Given the description of an element on the screen output the (x, y) to click on. 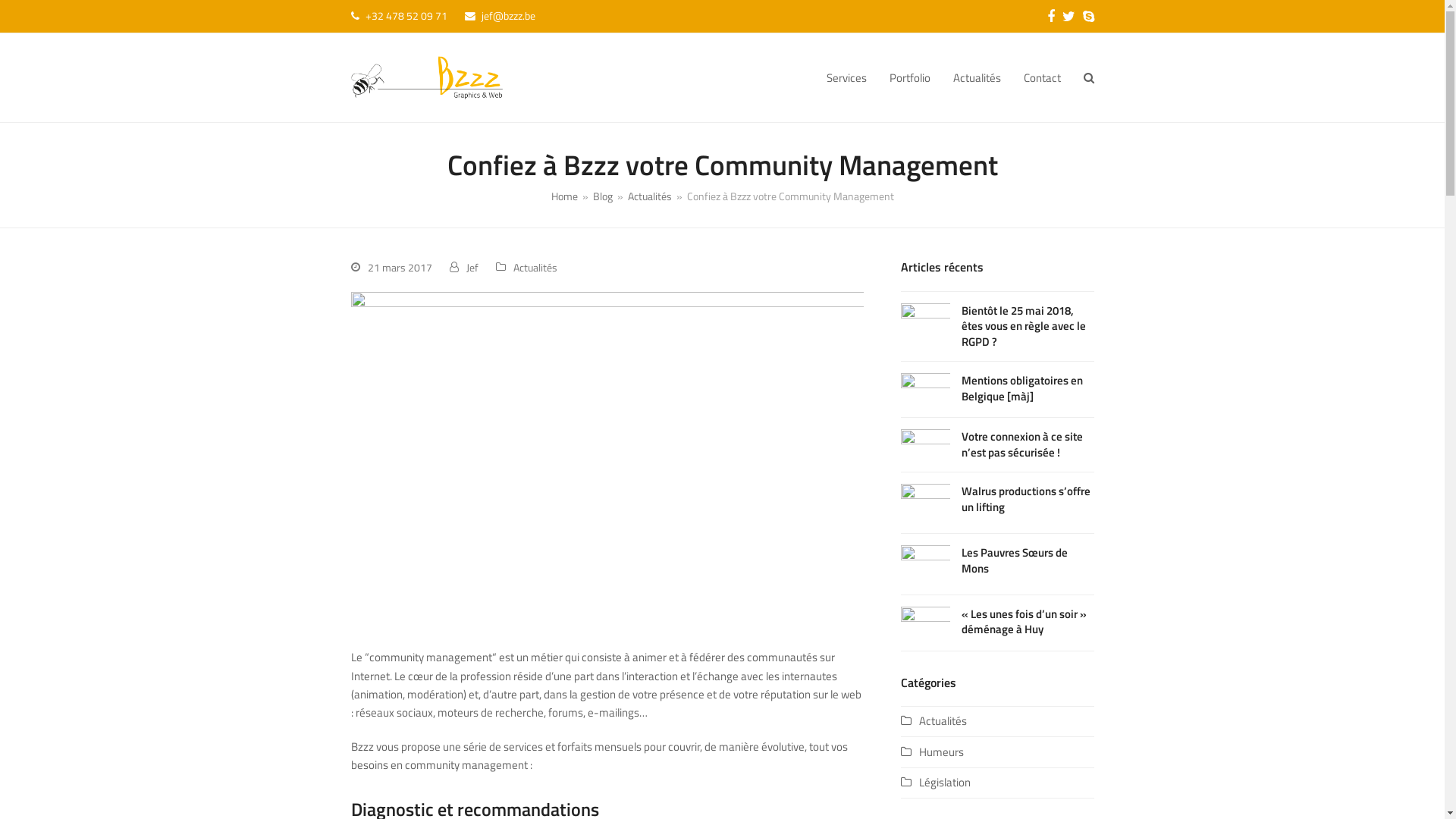
Humeurs Element type: text (931, 751)
Contact Element type: text (1041, 78)
Jef Element type: text (471, 267)
Twitter Element type: text (1067, 15)
Blog Element type: text (602, 195)
Facebook Element type: text (1050, 15)
Home Element type: text (563, 195)
Skype Element type: text (1088, 15)
Portfolio Element type: text (909, 78)
Services Element type: text (845, 78)
